Given the description of an element on the screen output the (x, y) to click on. 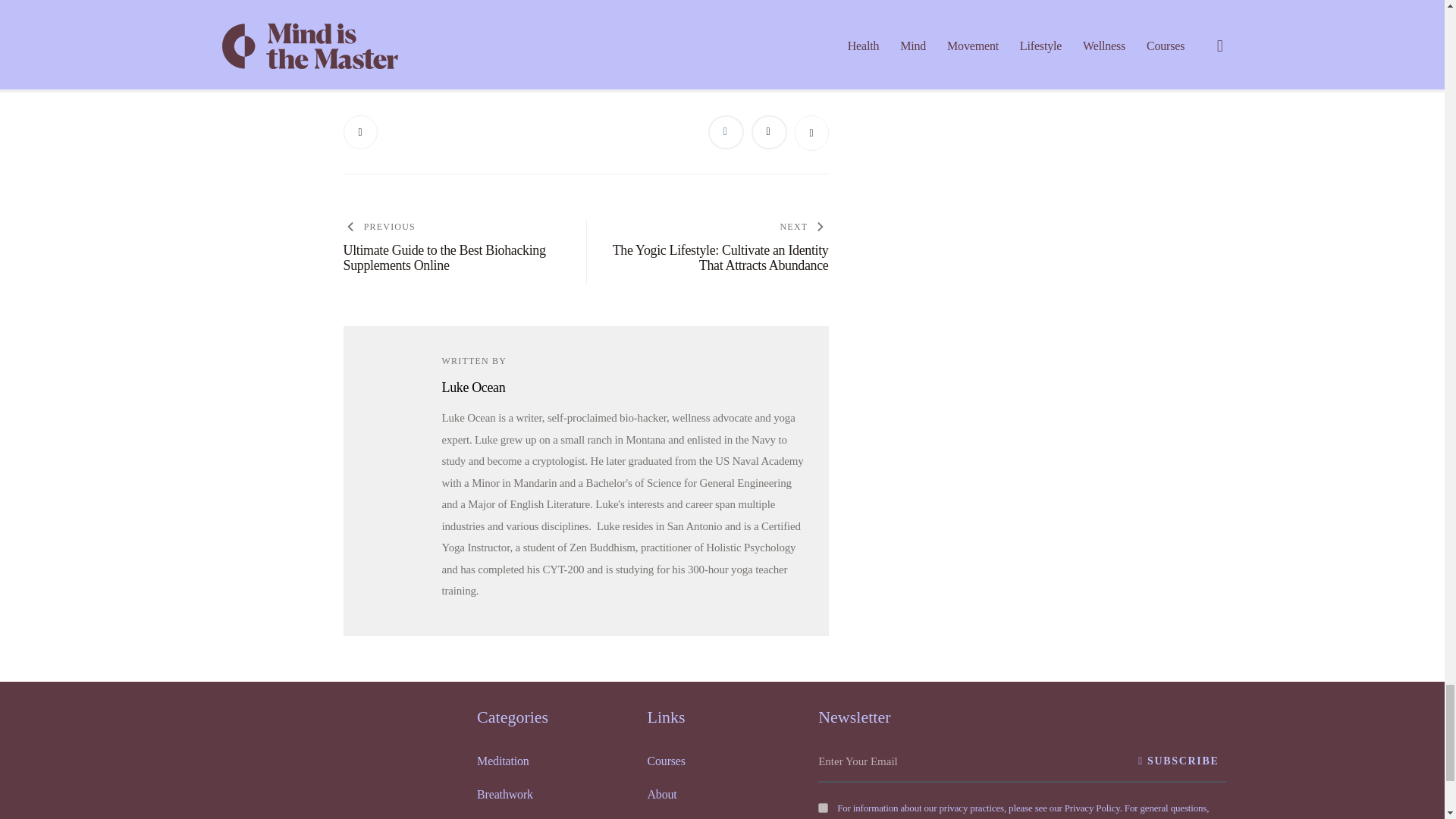
on (823, 808)
Copy URL to clipboard (811, 132)
